Given the description of an element on the screen output the (x, y) to click on. 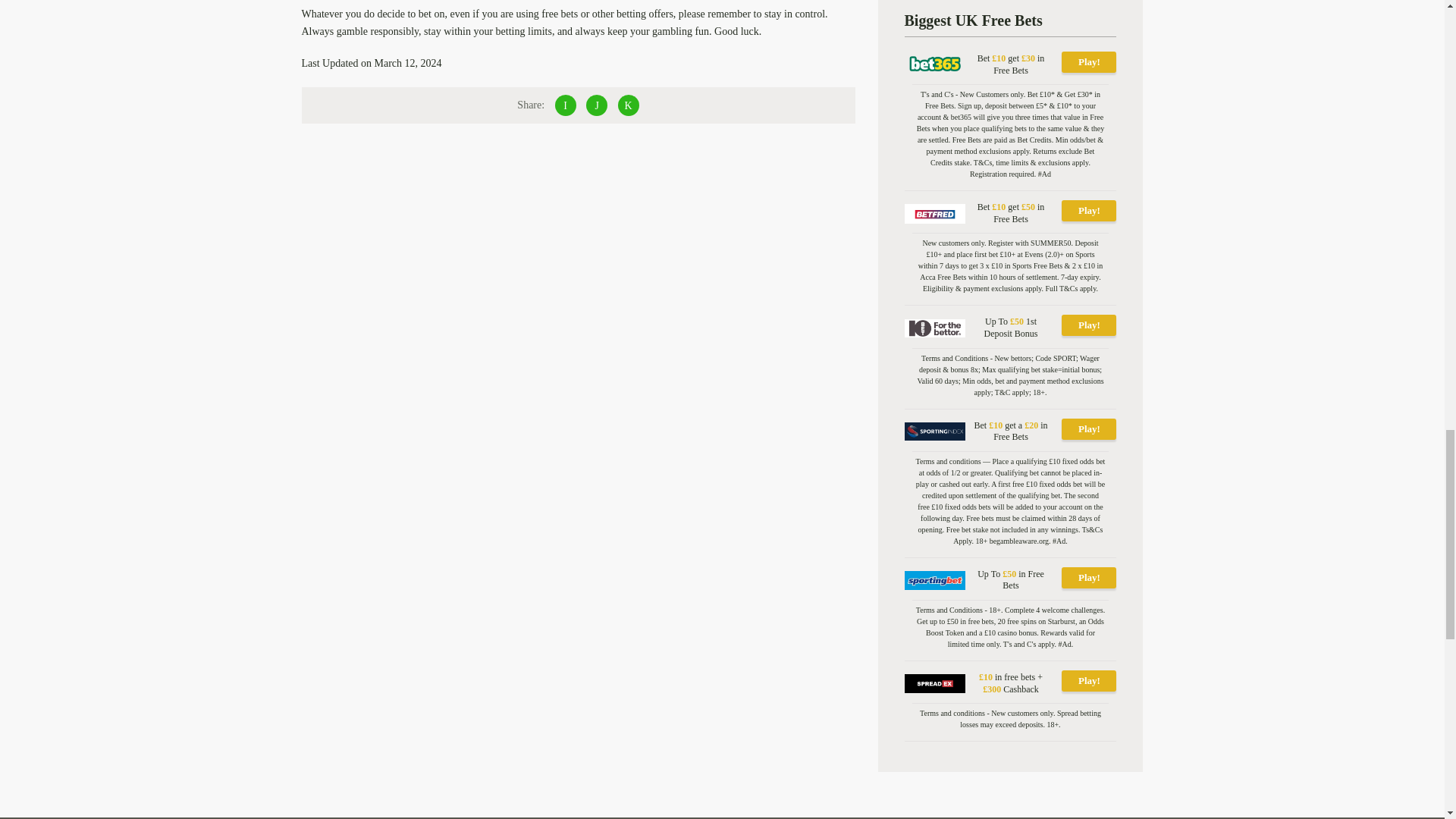
Share on Facebook (565, 105)
Share on Twitter (596, 105)
Share by email (628, 105)
